Given the description of an element on the screen output the (x, y) to click on. 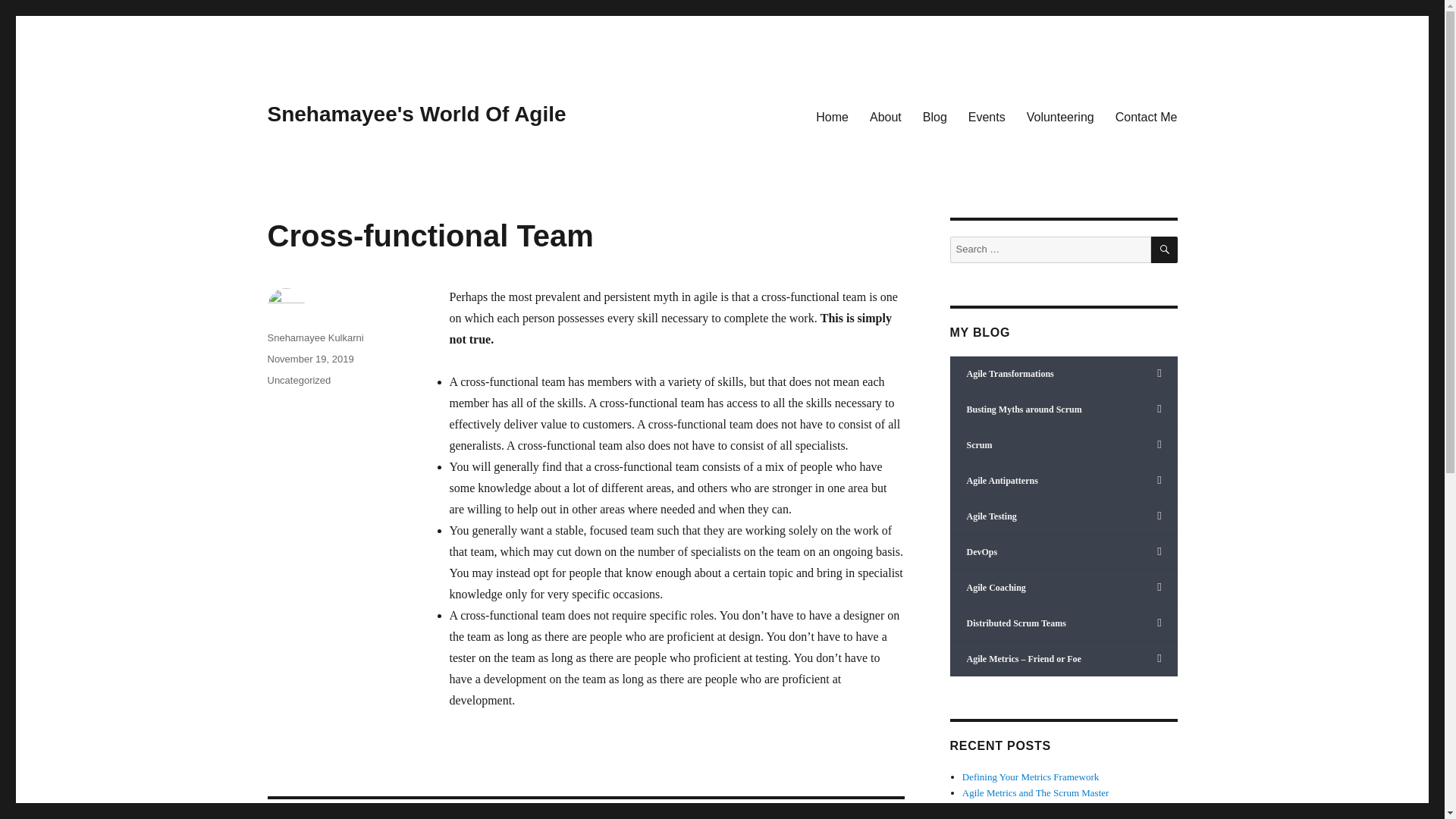
Busting Myths around Scrum (1062, 409)
About (885, 116)
November 19, 2019 (309, 358)
Events (987, 116)
Blog (935, 116)
Snehamayee Kulkarni (314, 337)
Volunteering (1060, 116)
Agile Transformations (1062, 374)
Home (832, 116)
